Given the description of an element on the screen output the (x, y) to click on. 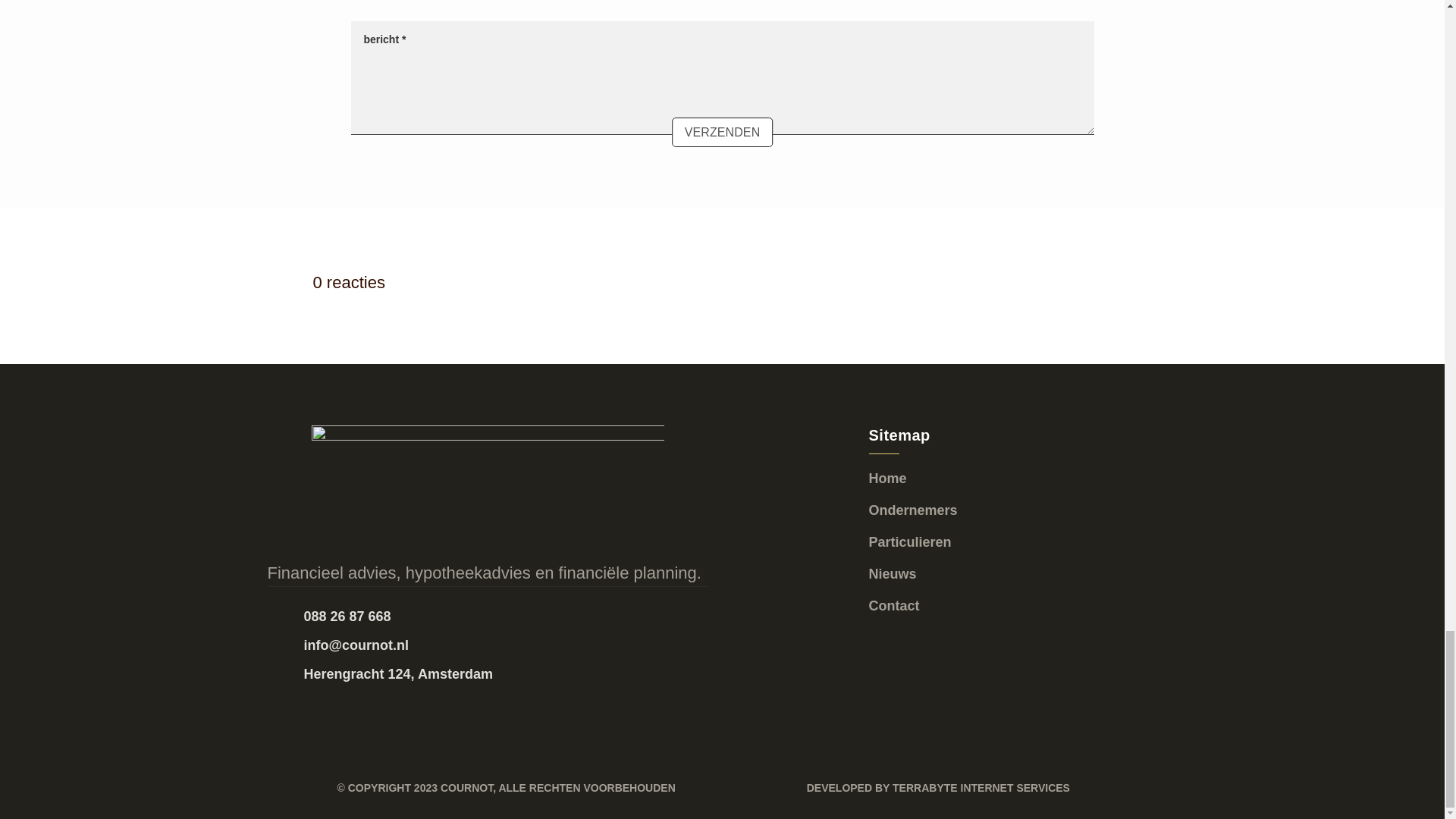
Cournot logo gold (488, 486)
